Given the description of an element on the screen output the (x, y) to click on. 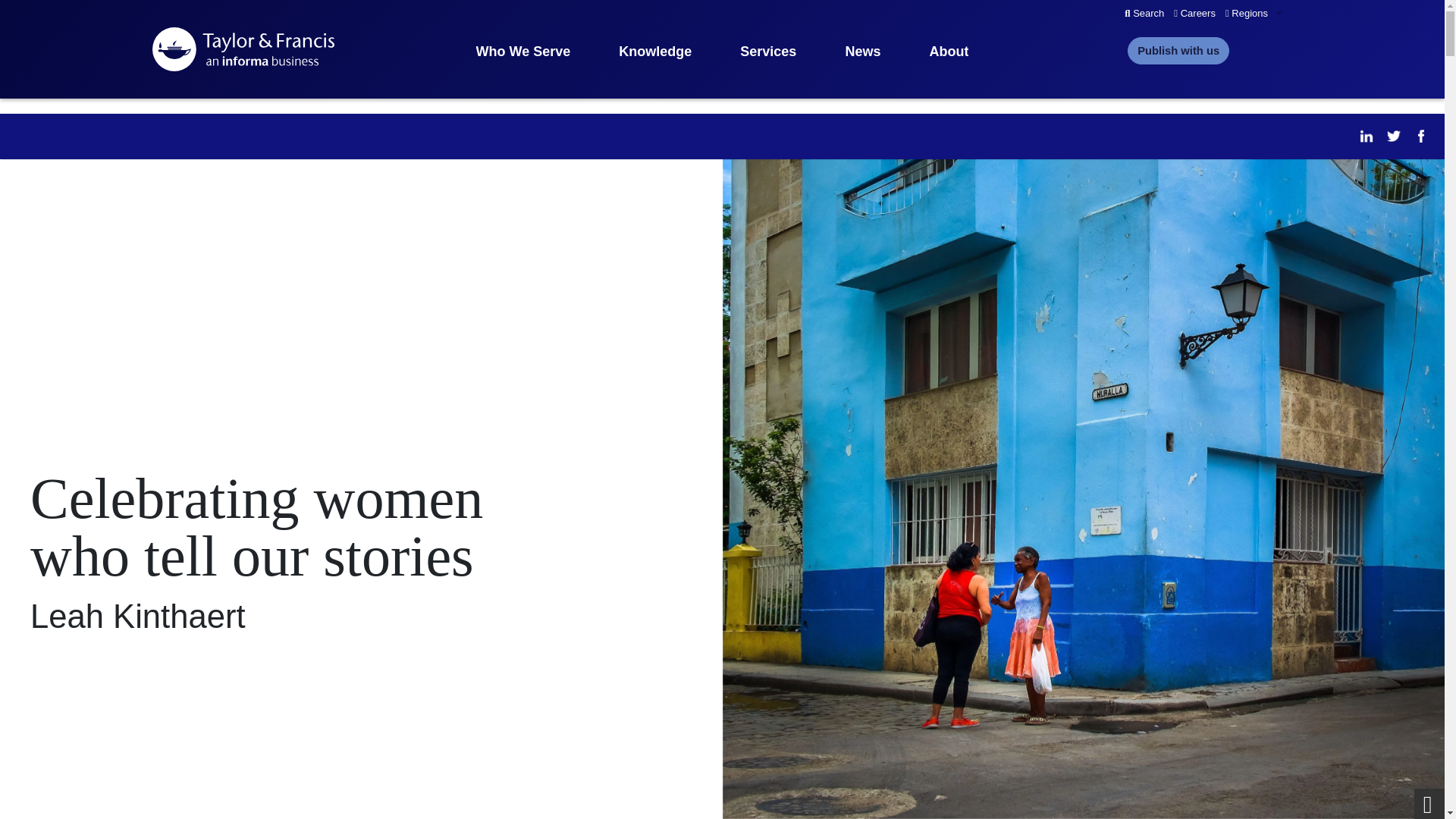
Regions (1256, 13)
Careers (1195, 13)
Search (1144, 13)
View our Services page (767, 51)
View our Careers page (1195, 13)
Knowledge (654, 51)
View our Homepage (242, 49)
Search (1144, 13)
View our About Us page (948, 51)
Who We Serve (523, 51)
